Given the description of an element on the screen output the (x, y) to click on. 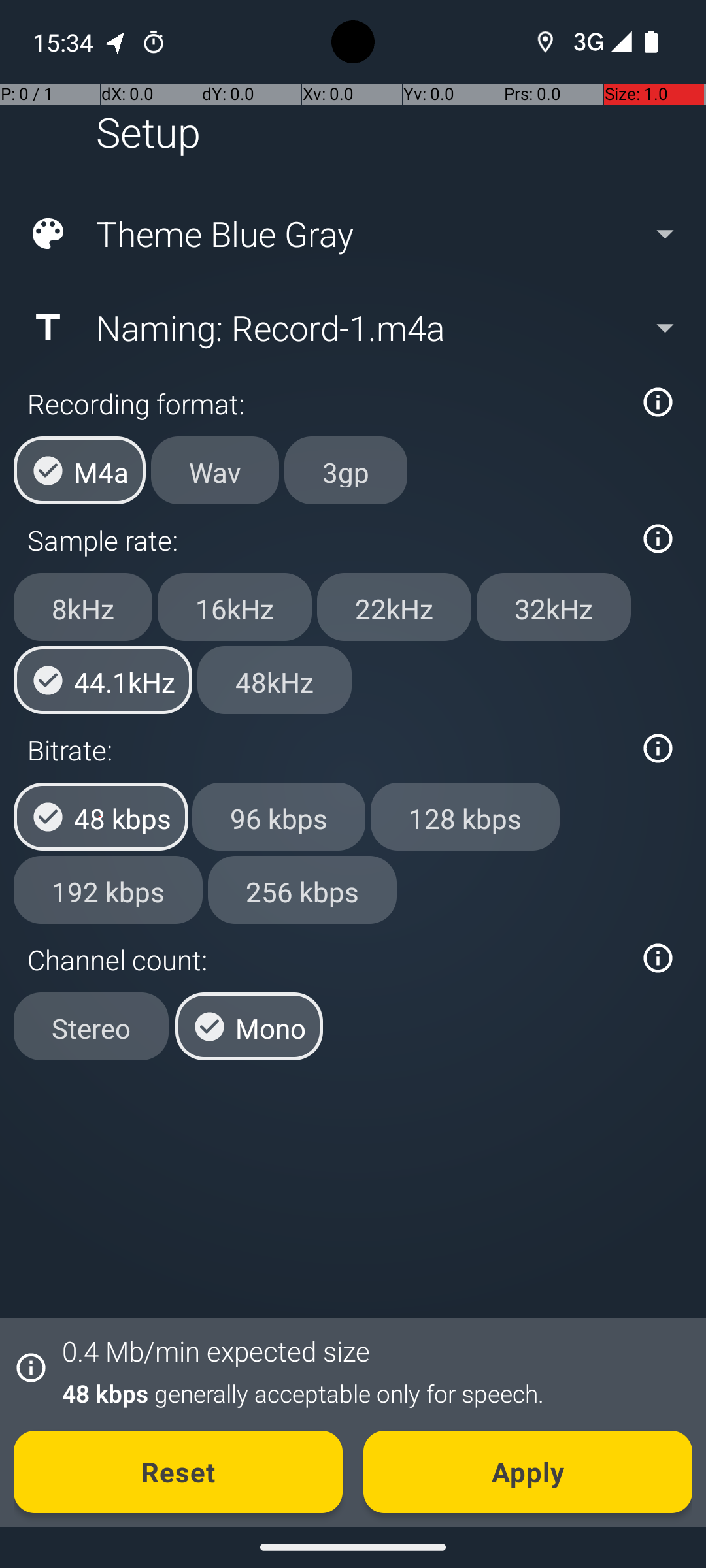
0.4 Mb/min expected size Element type: android.widget.TextView (215, 1350)
48 kbps generally acceptable only for speech. Element type: android.widget.TextView (370, 1392)
3G Element type: android.widget.ImageView (587, 41)
